Given the description of an element on the screen output the (x, y) to click on. 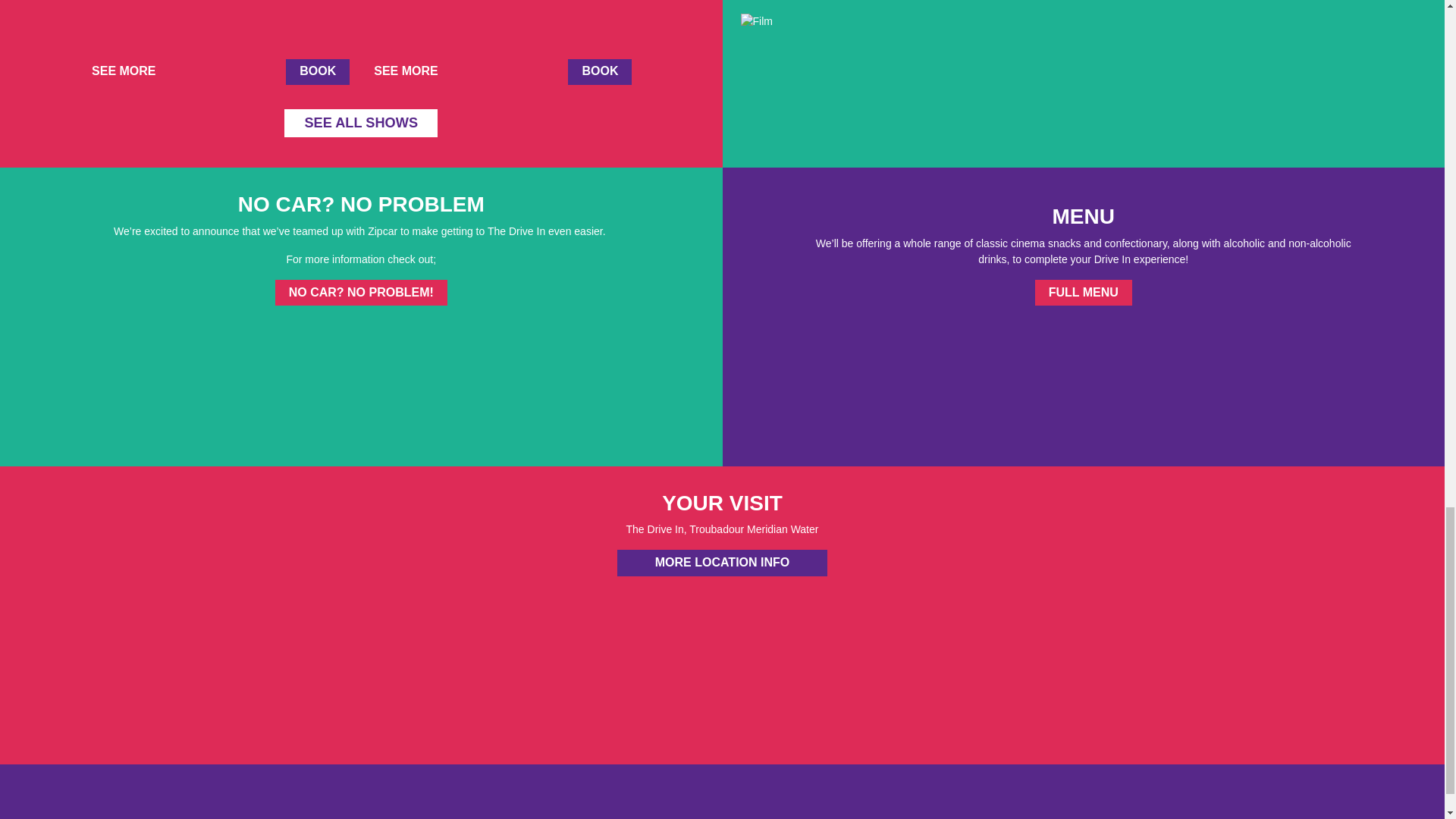
BOOK (317, 71)
SEE MORE (129, 71)
BOOK (599, 71)
SEE MORE (411, 71)
MORE LOCATION INFO (722, 562)
SEE ALL SHOWS (360, 122)
NO CAR? NO PROBLEM! (360, 292)
FULL MENU (1083, 292)
